Given the description of an element on the screen output the (x, y) to click on. 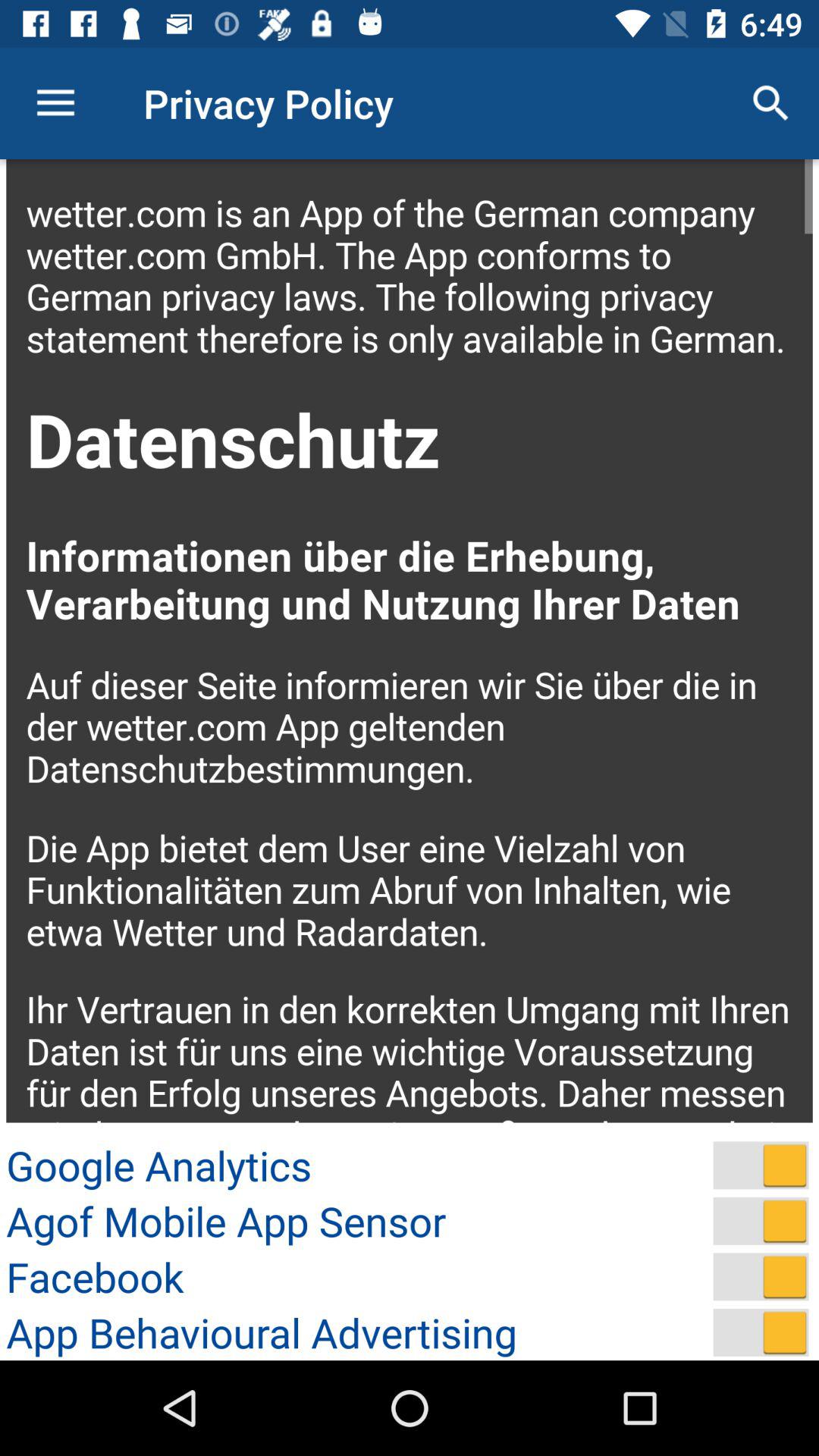
toggle on (760, 1276)
